Given the description of an element on the screen output the (x, y) to click on. 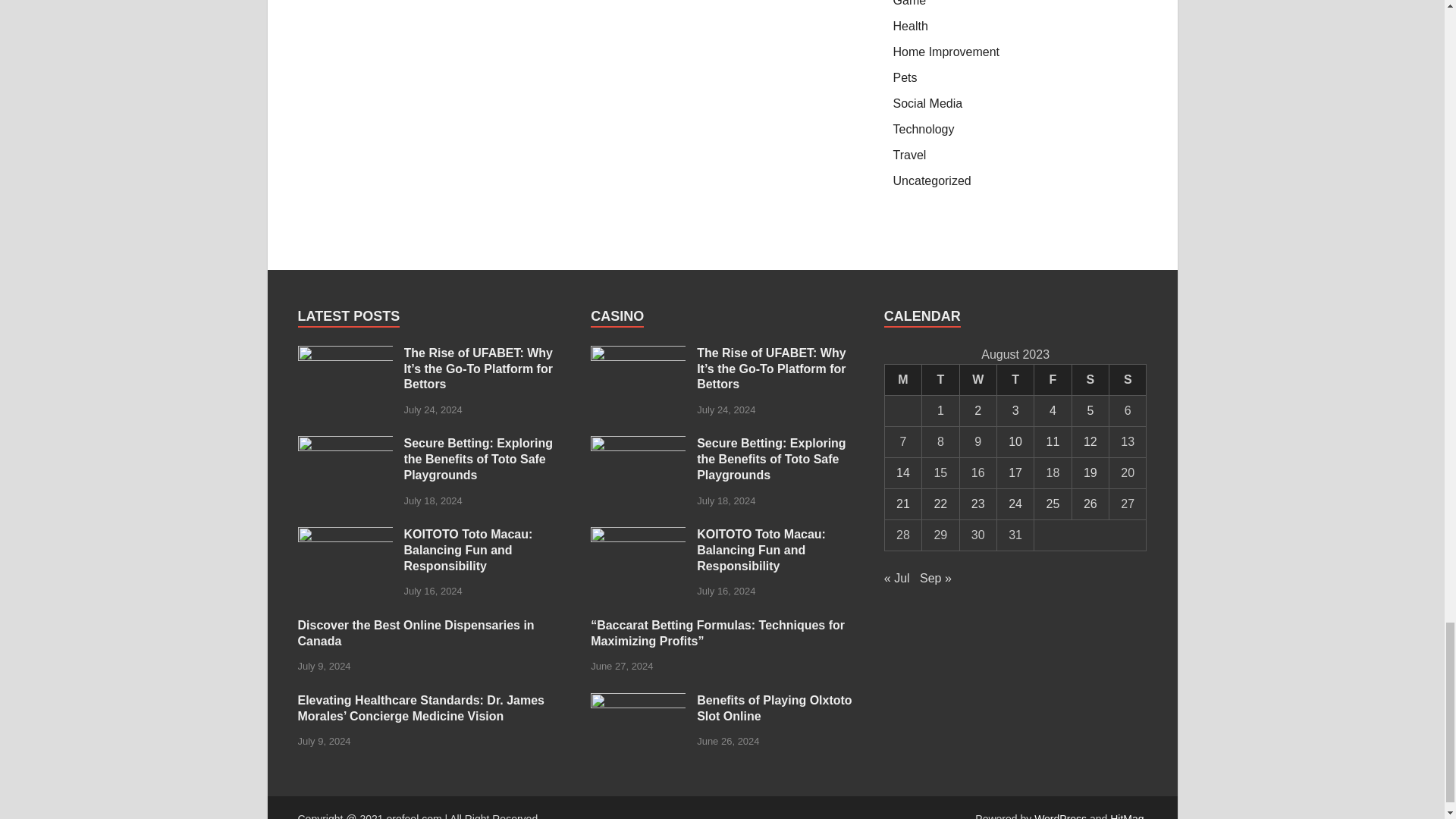
KOITOTO Toto Macau: Balancing Fun and Responsibility (638, 535)
KOITOTO Toto Macau: Balancing Fun and Responsibility (344, 535)
